Given the description of an element on the screen output the (x, y) to click on. 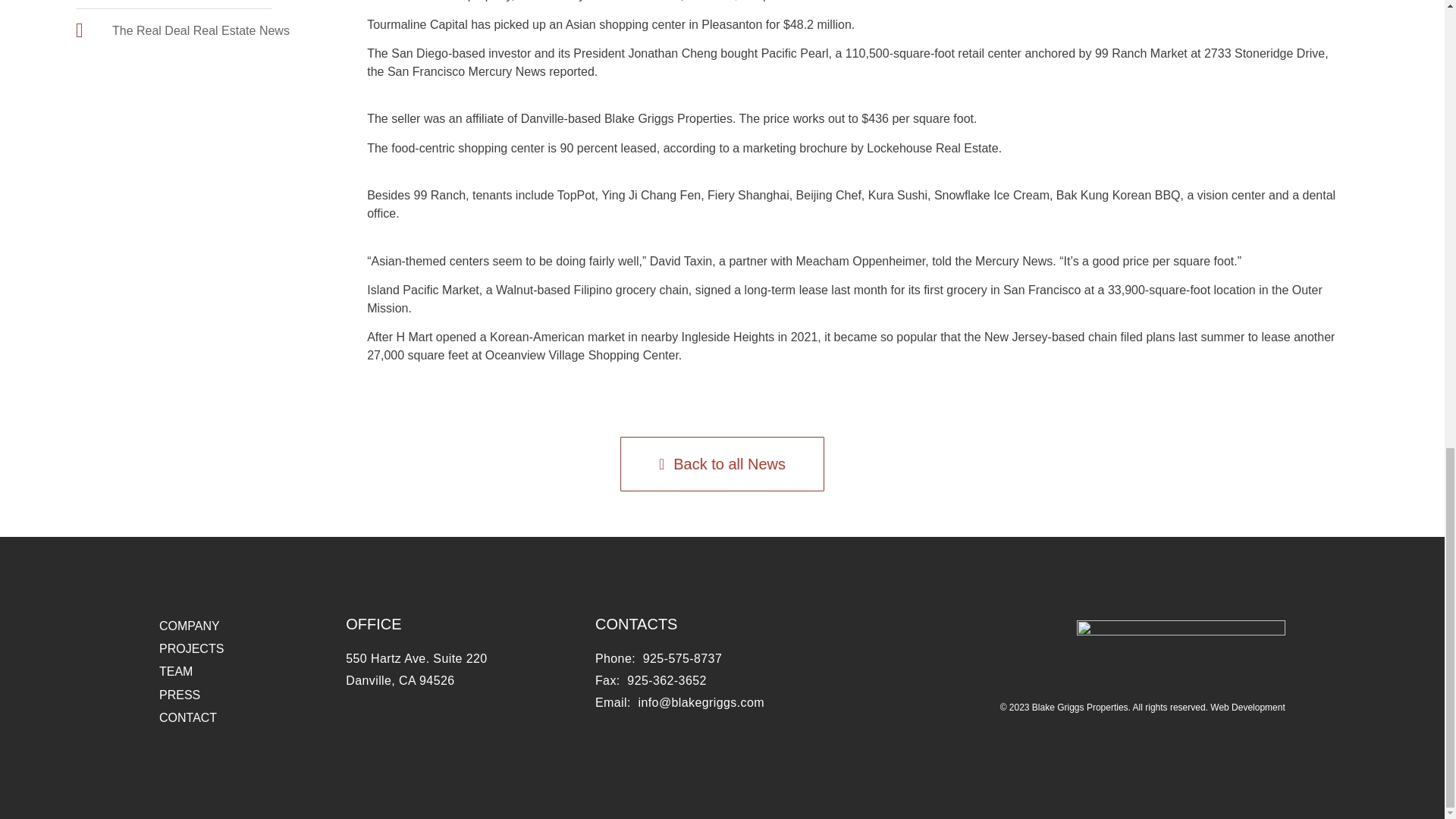
COMPANY (188, 625)
The Real Deal Real Estate News (182, 30)
Web Development (1247, 706)
Back to all News (722, 463)
925-575-8737 (682, 658)
